Given the description of an element on the screen output the (x, y) to click on. 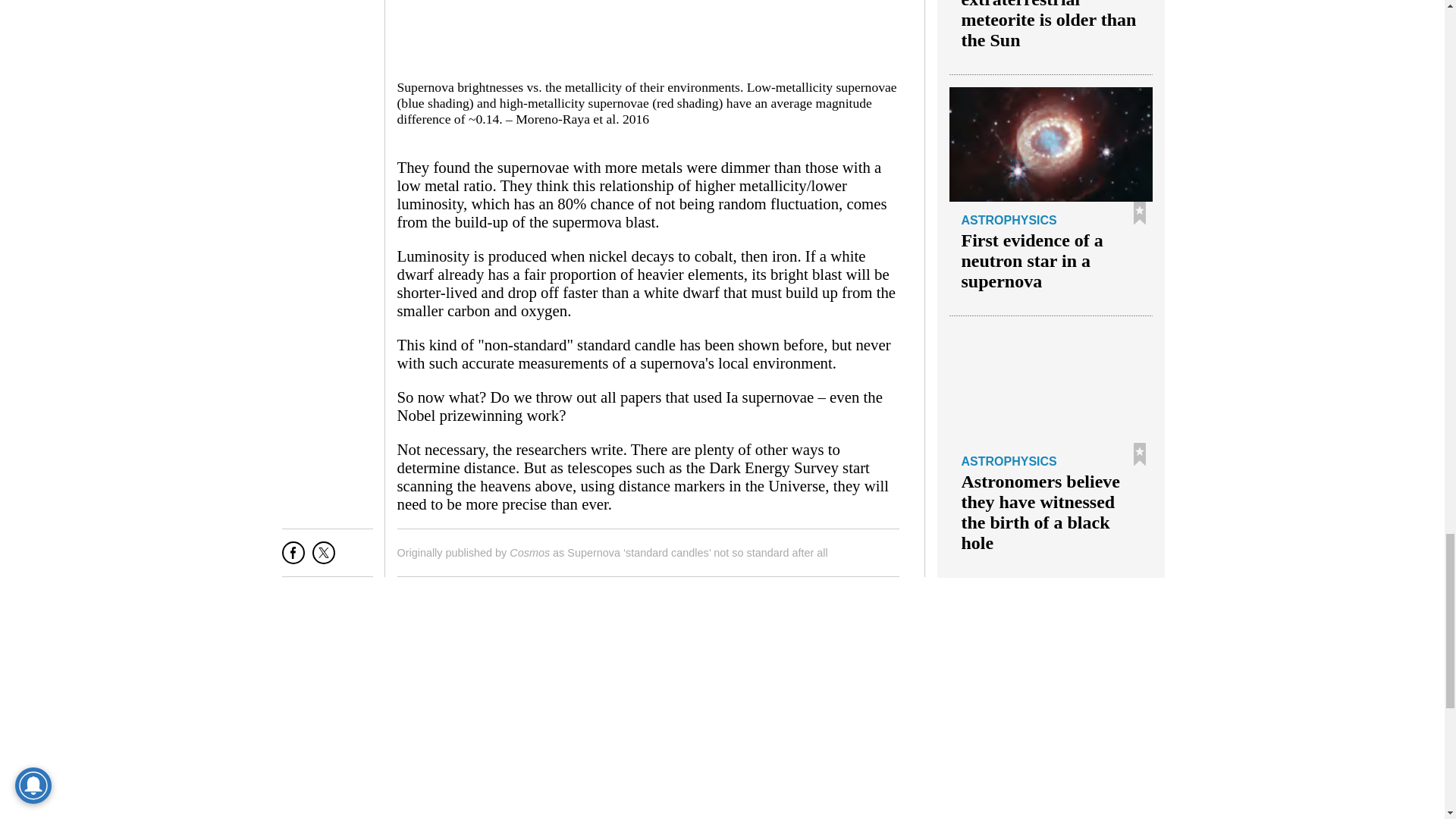
supernova 'standard candles' not so standard after all 2 (646, 34)
Cosmos (529, 552)
Share on Facebook (293, 558)
Tweet (323, 558)
